Given the description of an element on the screen output the (x, y) to click on. 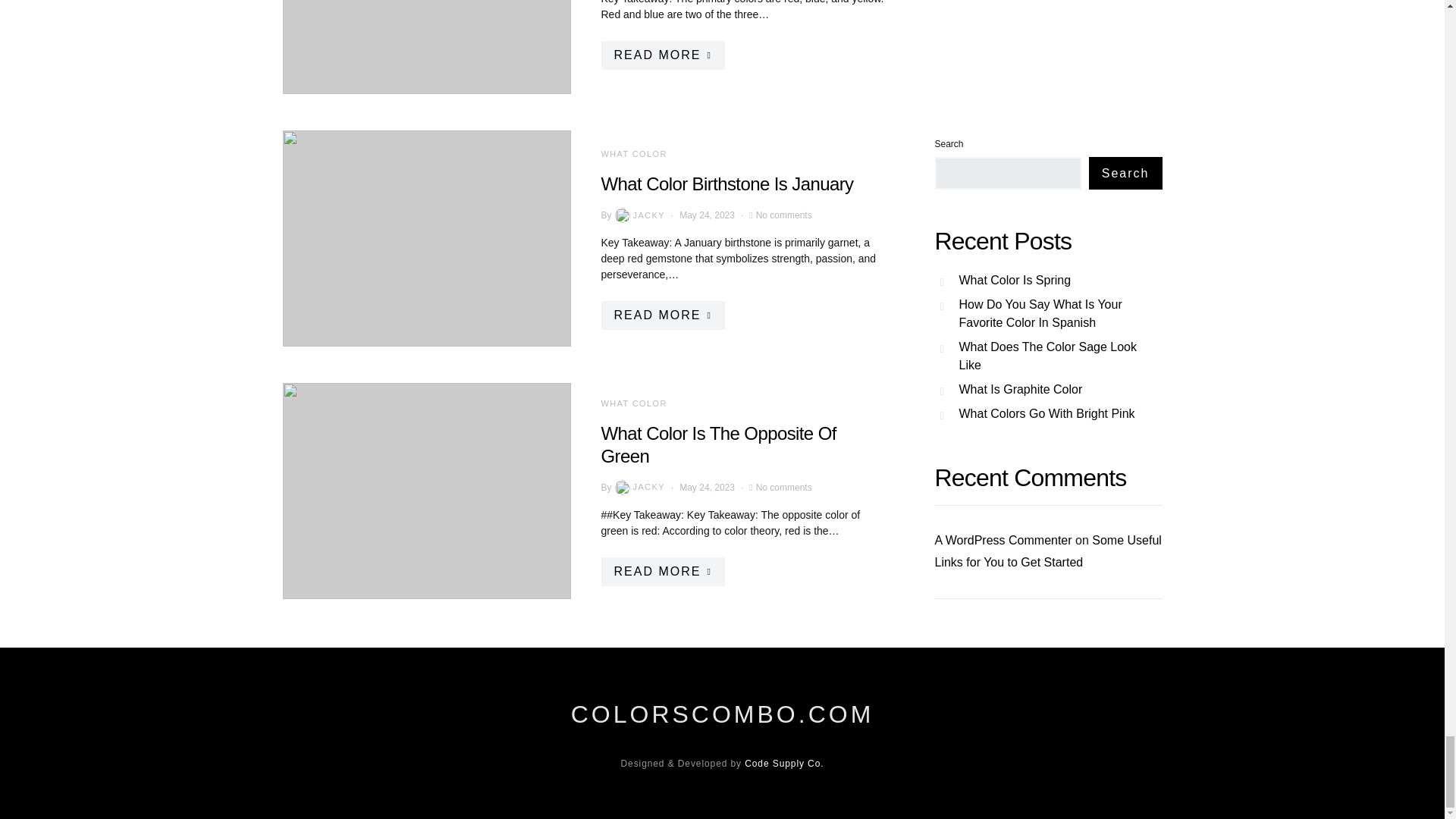
View all posts by Jacky (638, 215)
View all posts by Jacky (638, 487)
